Given the description of an element on the screen output the (x, y) to click on. 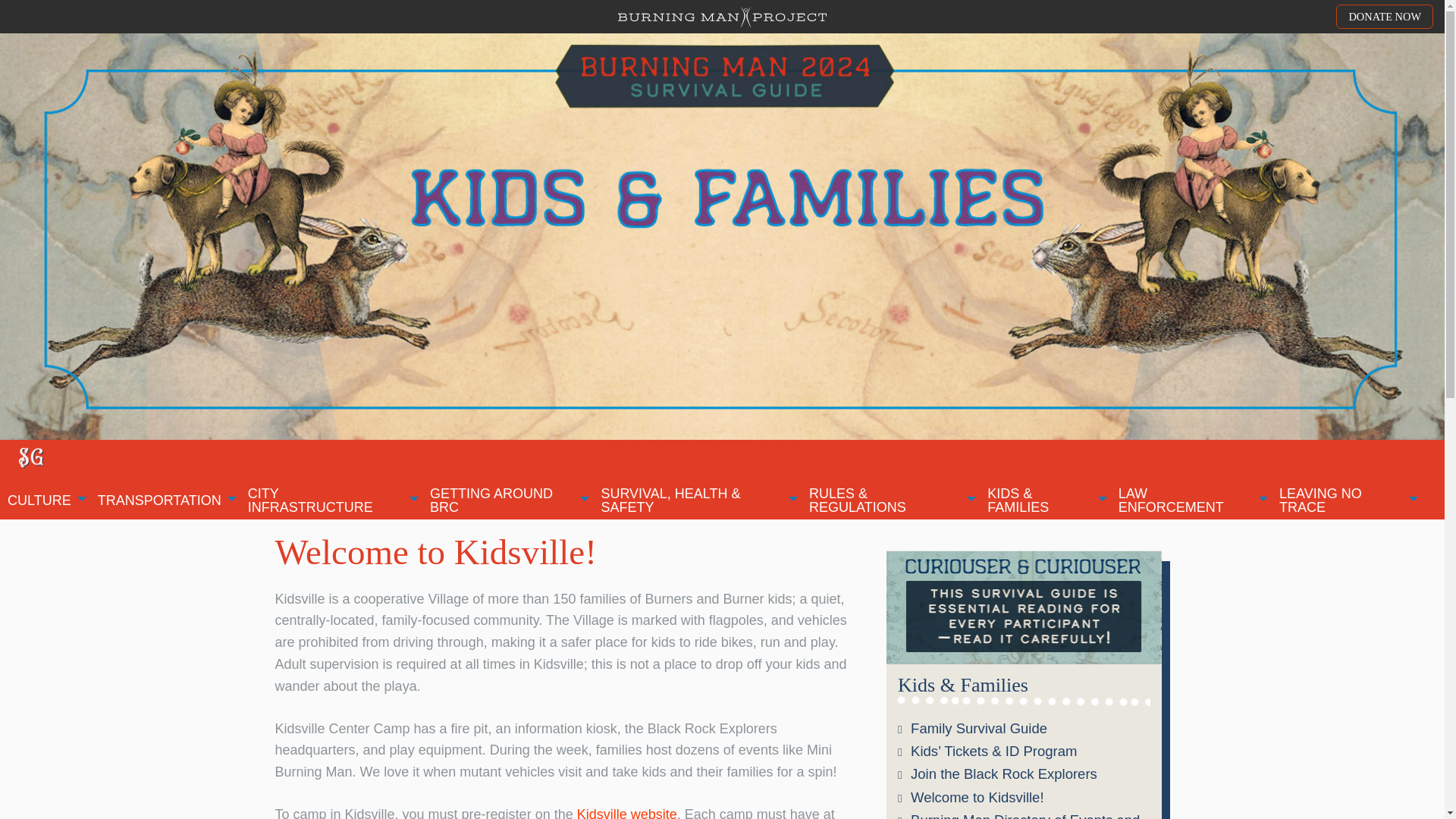
Survival Guide 2024 (29, 456)
